Given the description of an element on the screen output the (x, y) to click on. 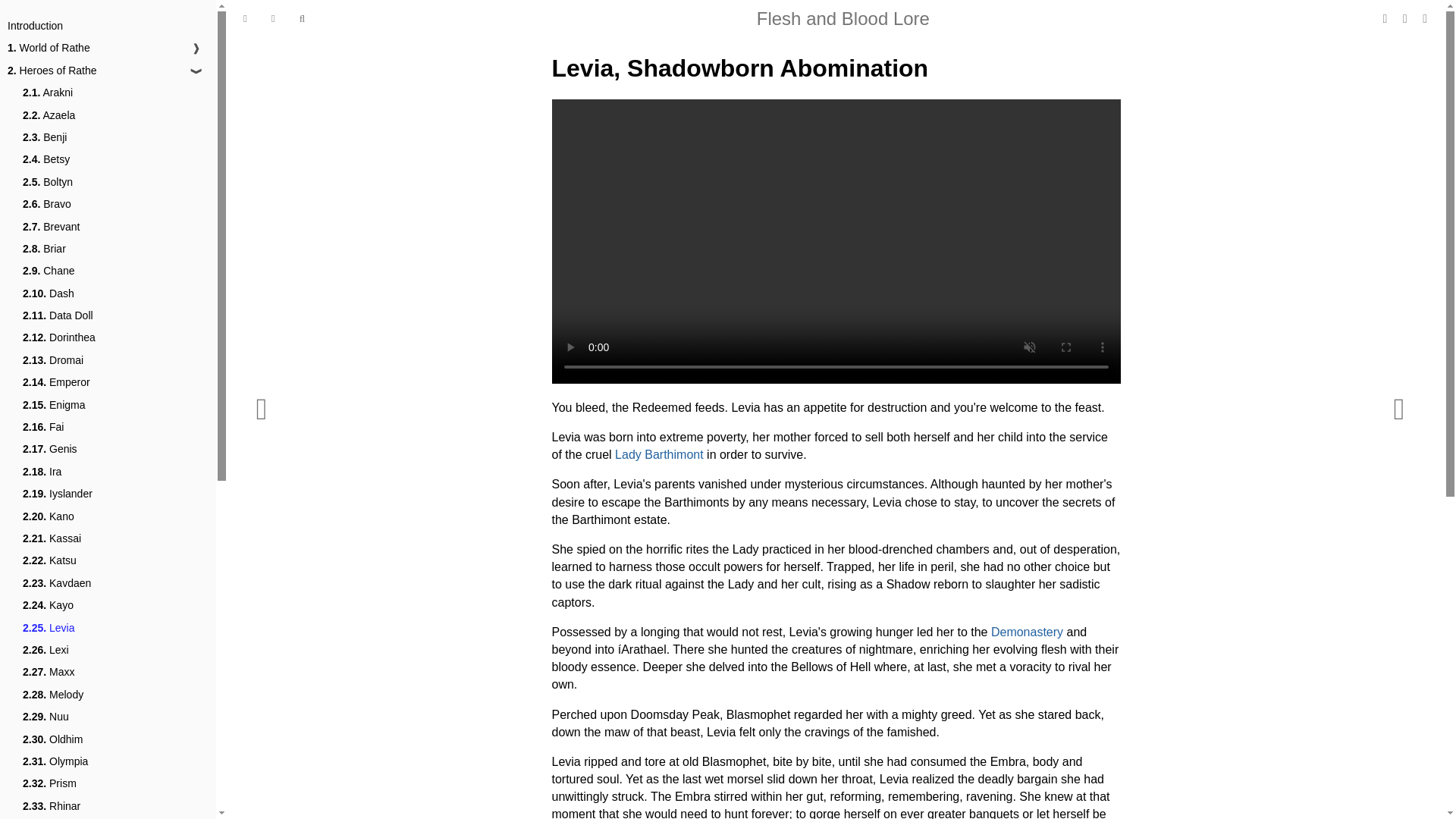
Introduction (34, 26)
Print this book (1386, 18)
1. World of Rathe (48, 48)
Git repository (1406, 18)
